Given the description of an element on the screen output the (x, y) to click on. 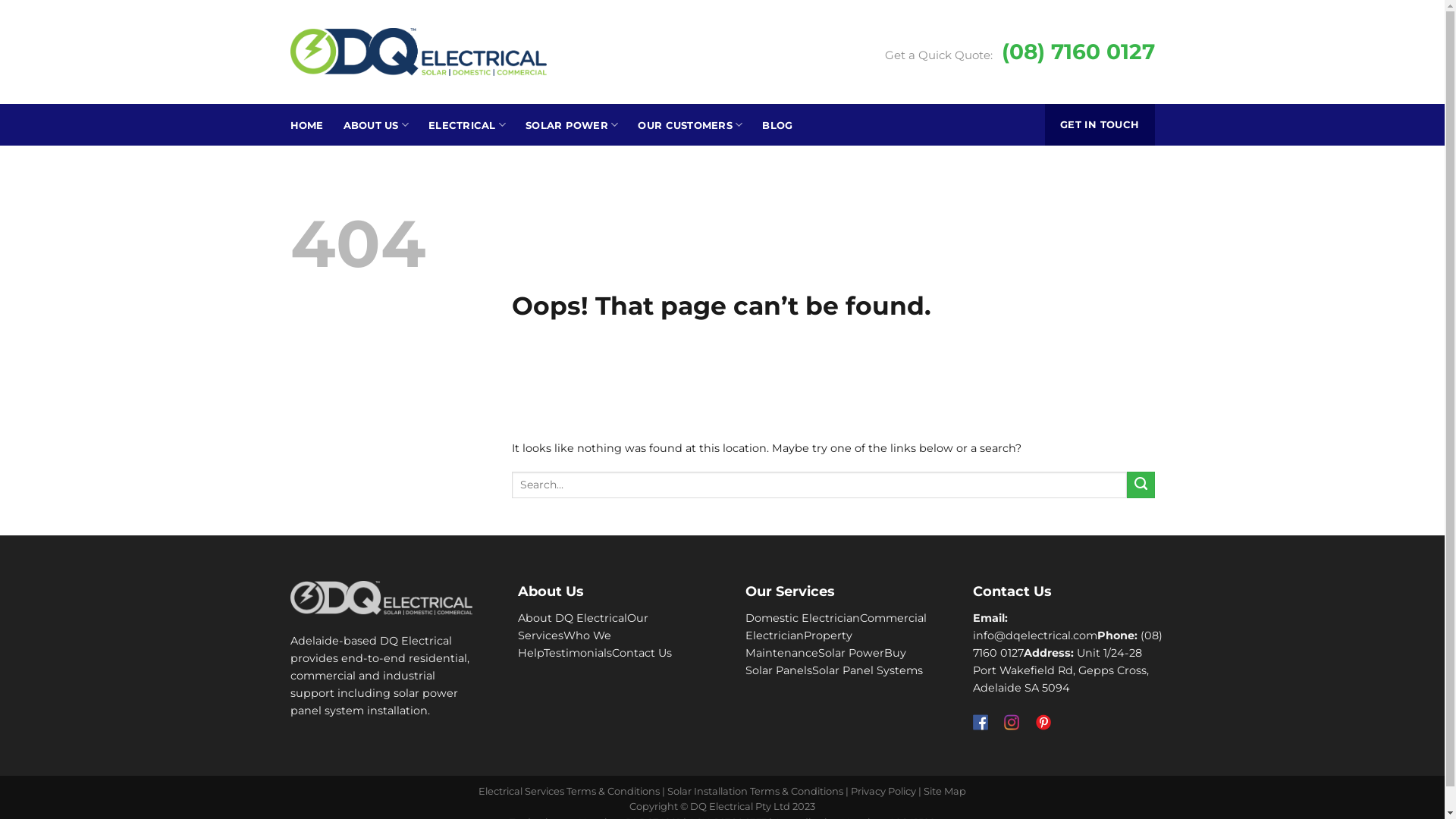
BLOG Element type: text (777, 124)
Contact Us Element type: text (641, 652)
Electrical Services Terms & Conditions Element type: text (568, 790)
Solar Installation Terms & Conditions Element type: text (755, 790)
Domestic Electrician Element type: text (801, 617)
Property Maintenance Element type: text (797, 643)
(08) 7160 0127 Element type: text (1066, 643)
Commercial Electrician Element type: text (834, 626)
Solar Panel Systems Element type: text (866, 670)
OUR CUSTOMERS Element type: text (689, 124)
info@dqelectrical.com Element type: text (1034, 635)
(08) 7160 0127 Element type: text (1077, 51)
Our Services Element type: text (582, 626)
ABOUT US Element type: text (376, 124)
HOME Element type: text (306, 124)
Site Map Element type: text (944, 790)
Buy Solar Panels Element type: text (824, 661)
Solar Power Element type: text (850, 652)
Who We Help Element type: text (563, 643)
Privacy Policy Element type: text (883, 790)
GET IN TOUCH Element type: text (1099, 124)
Testimonials Element type: text (576, 652)
SOLAR POWER Element type: text (571, 124)
ELECTRICAL Element type: text (466, 124)
About DQ Electrical Element type: text (571, 617)
